Given the description of an element on the screen output the (x, y) to click on. 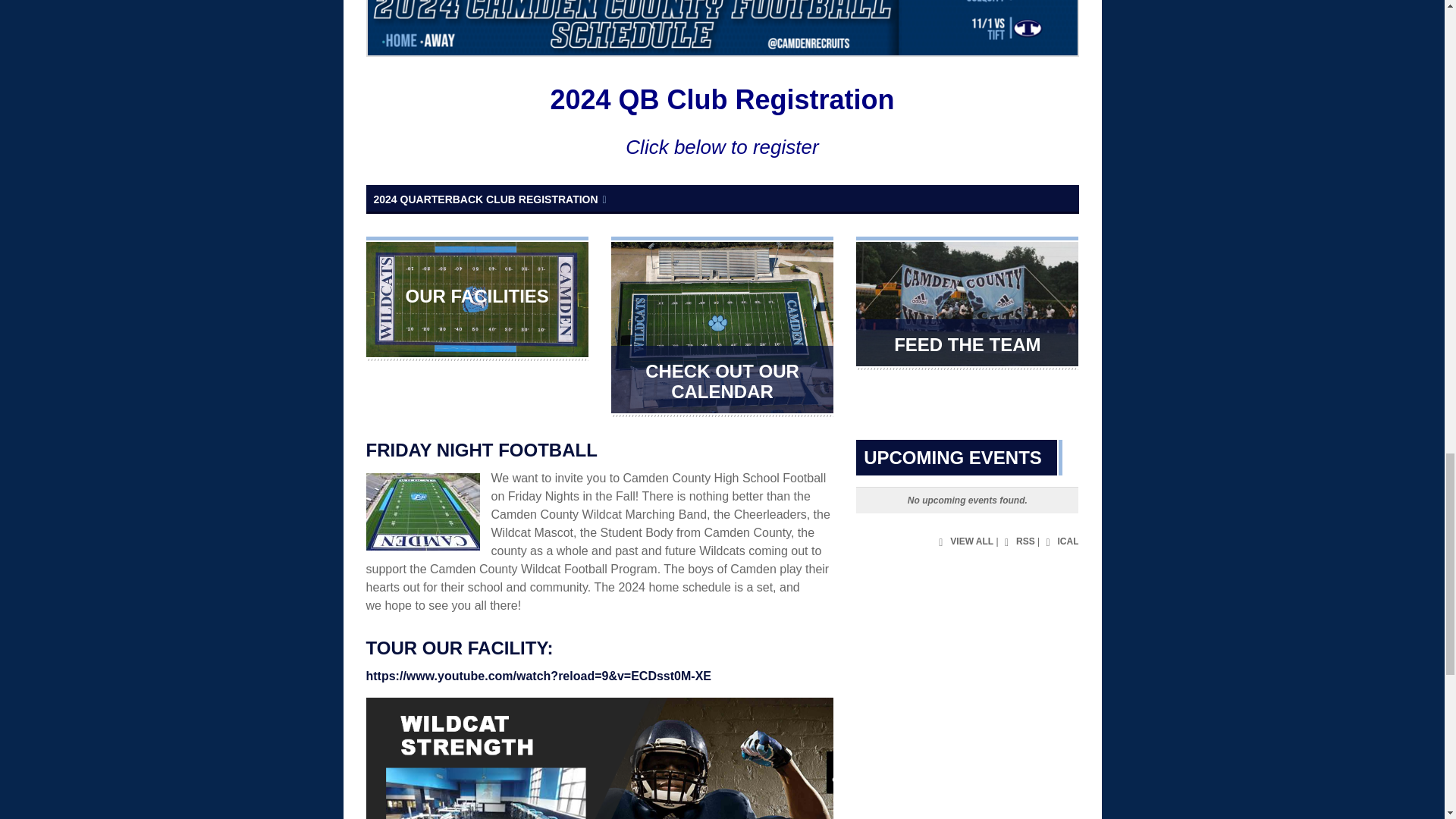
ICAL (1060, 541)
Subscribe to RSS Feed (1018, 541)
2024 QUARTERBACK CLUB REGISTRATION (721, 199)
View All (963, 541)
VIEW ALL (963, 541)
RSS (1018, 541)
